Given the description of an element on the screen output the (x, y) to click on. 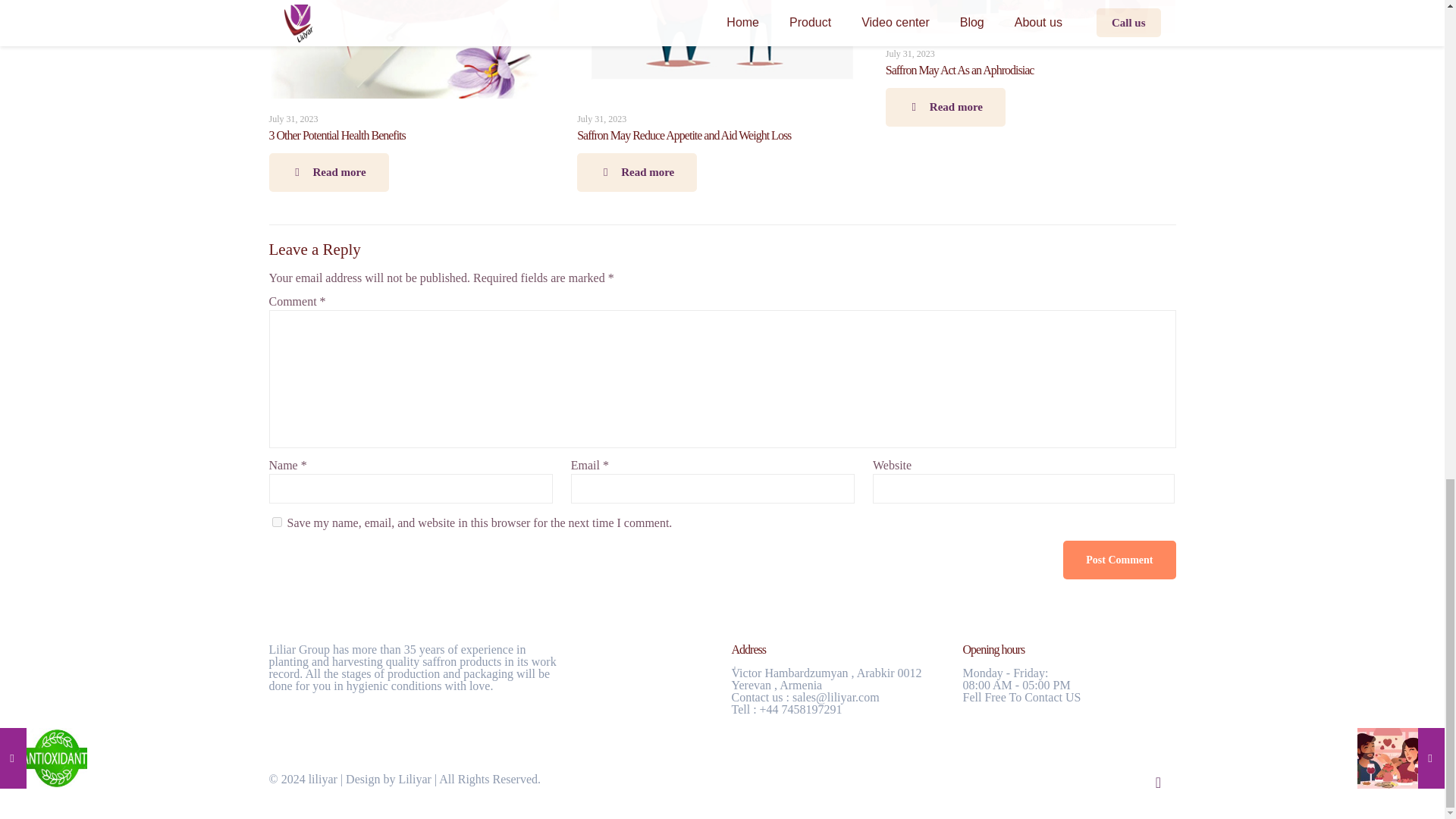
Read more (327, 172)
Saffron May Reduce Appetite and Aid Weight Loss (683, 134)
Post Comment (1118, 559)
Post Comment (1118, 559)
Read more (636, 172)
3 Other Potential Health Benefits (335, 134)
Read more (945, 106)
yes (275, 521)
Saffron May Act As an Aphrodisiac (959, 69)
